Given the description of an element on the screen output the (x, y) to click on. 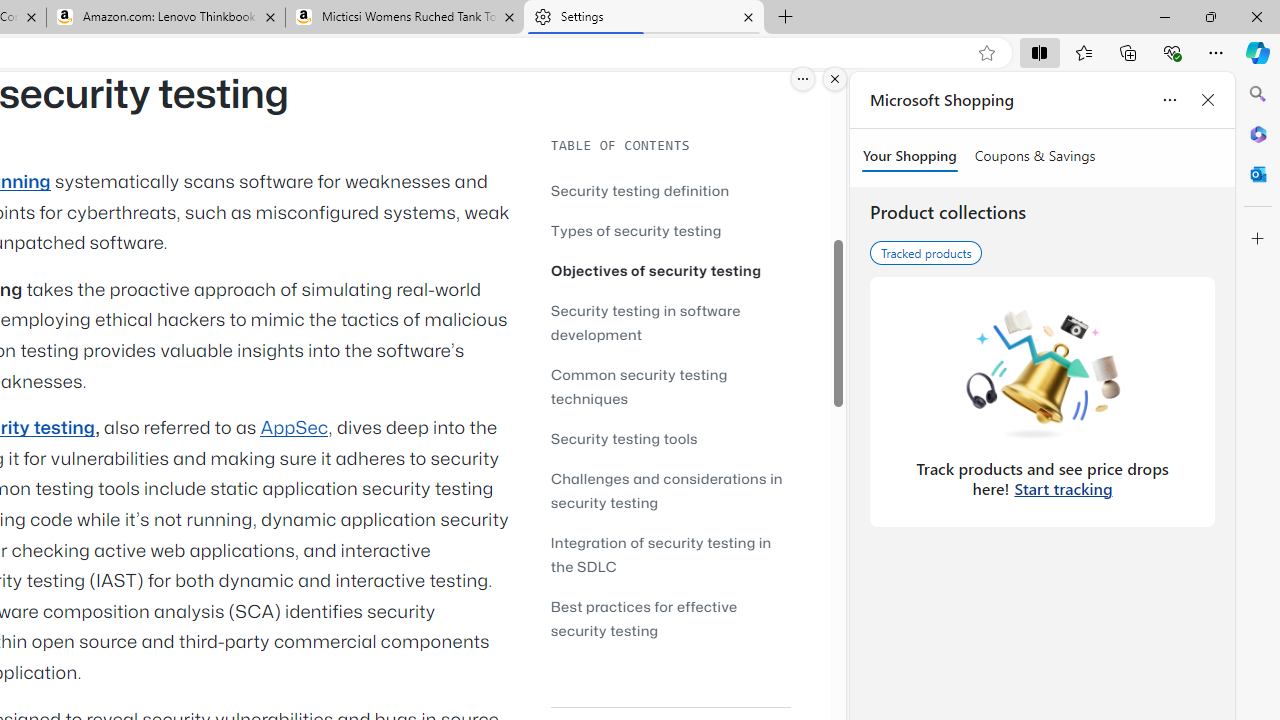
Integration of security testing in the SDLC (660, 554)
Best practices for effective security testing (644, 618)
Security testing tools (623, 438)
Objectives of security testing (655, 270)
More options. (803, 79)
Common security testing techniques (639, 385)
